Given the description of an element on the screen output the (x, y) to click on. 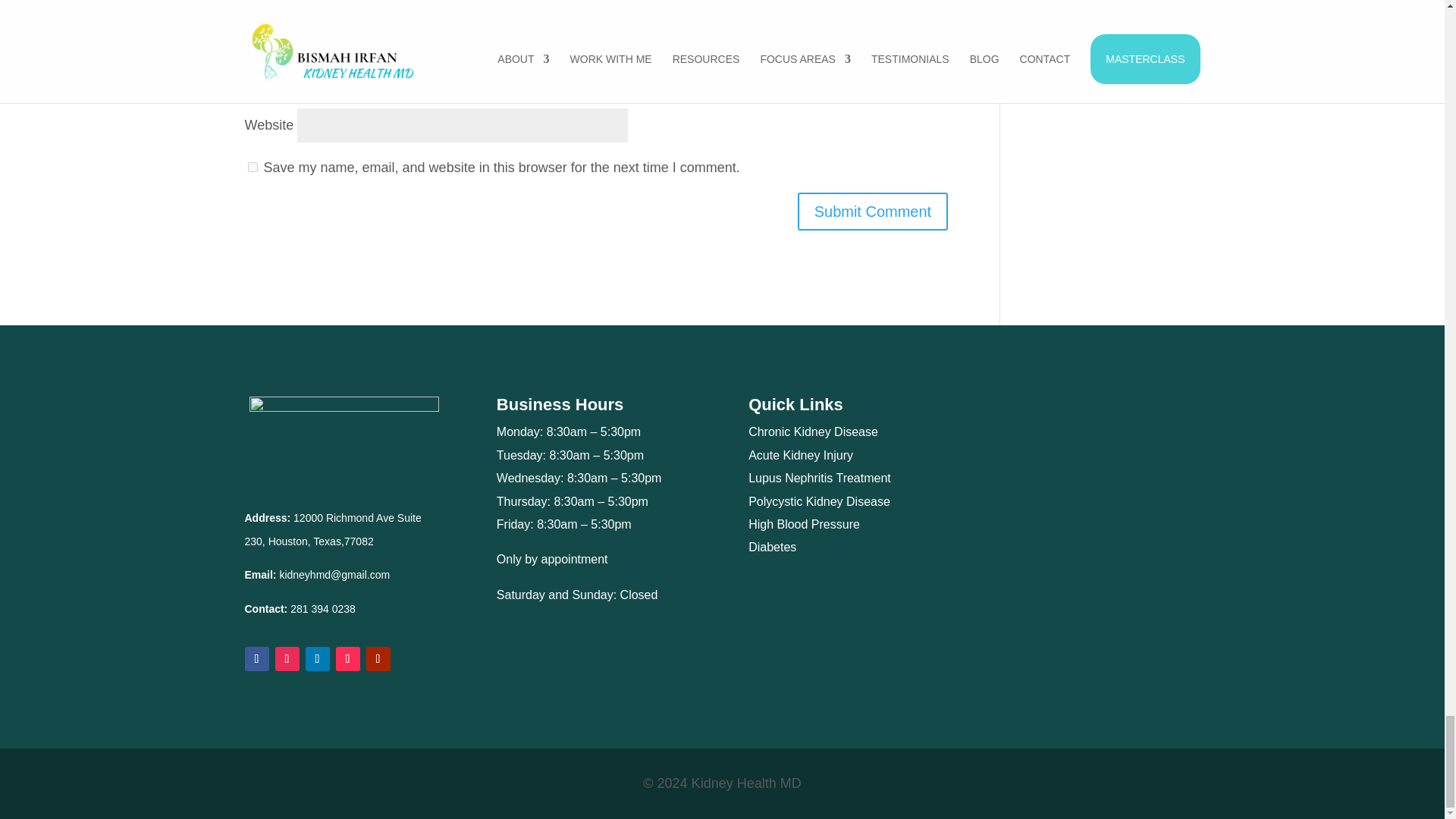
yes (252, 166)
Submit Comment (873, 211)
